Given the description of an element on the screen output the (x, y) to click on. 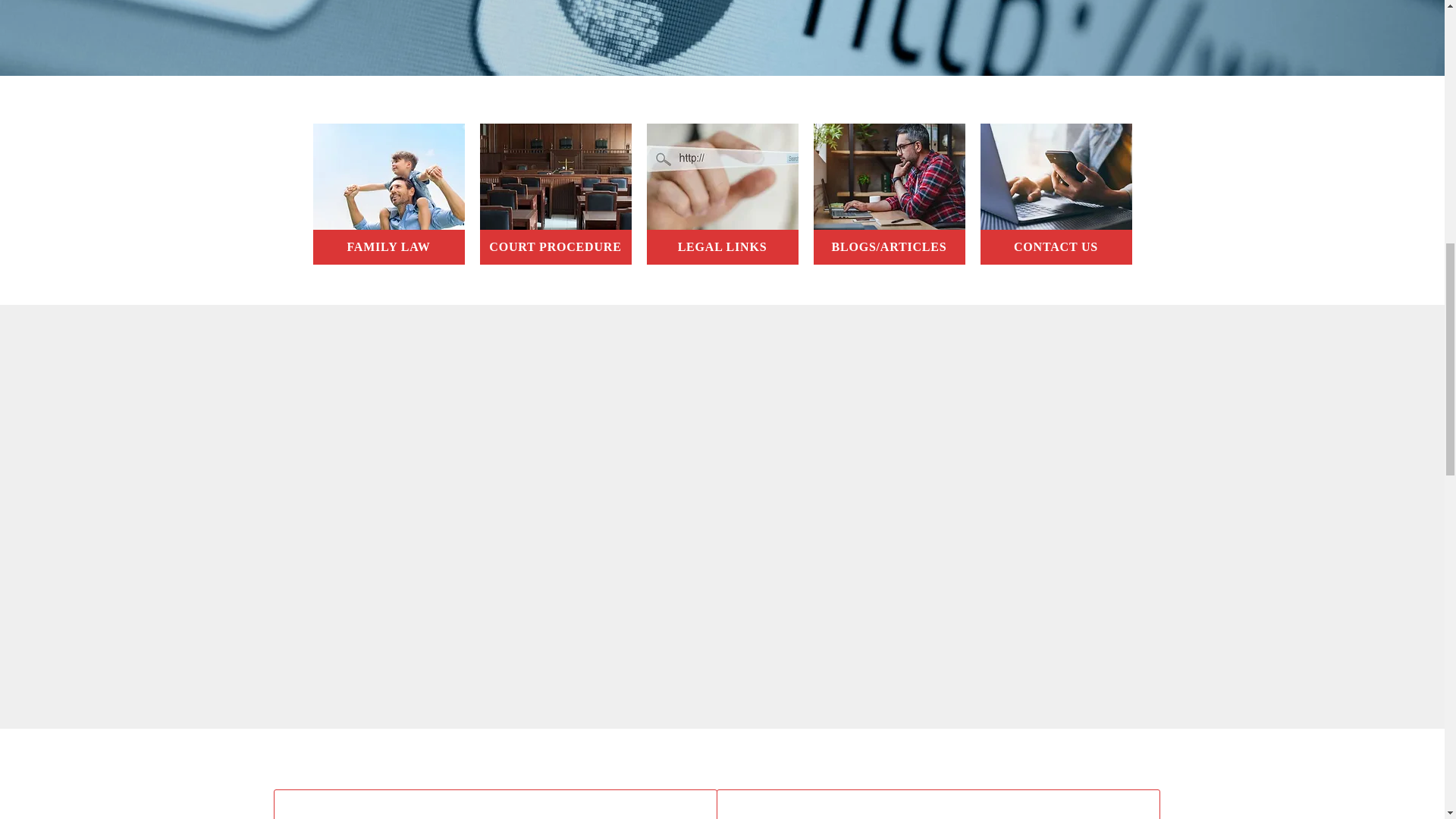
COURT PROCEDURE (554, 247)
FAMILY LAW (388, 247)
LEGAL LINKS (721, 247)
CONTACT US (1055, 247)
